Given the description of an element on the screen output the (x, y) to click on. 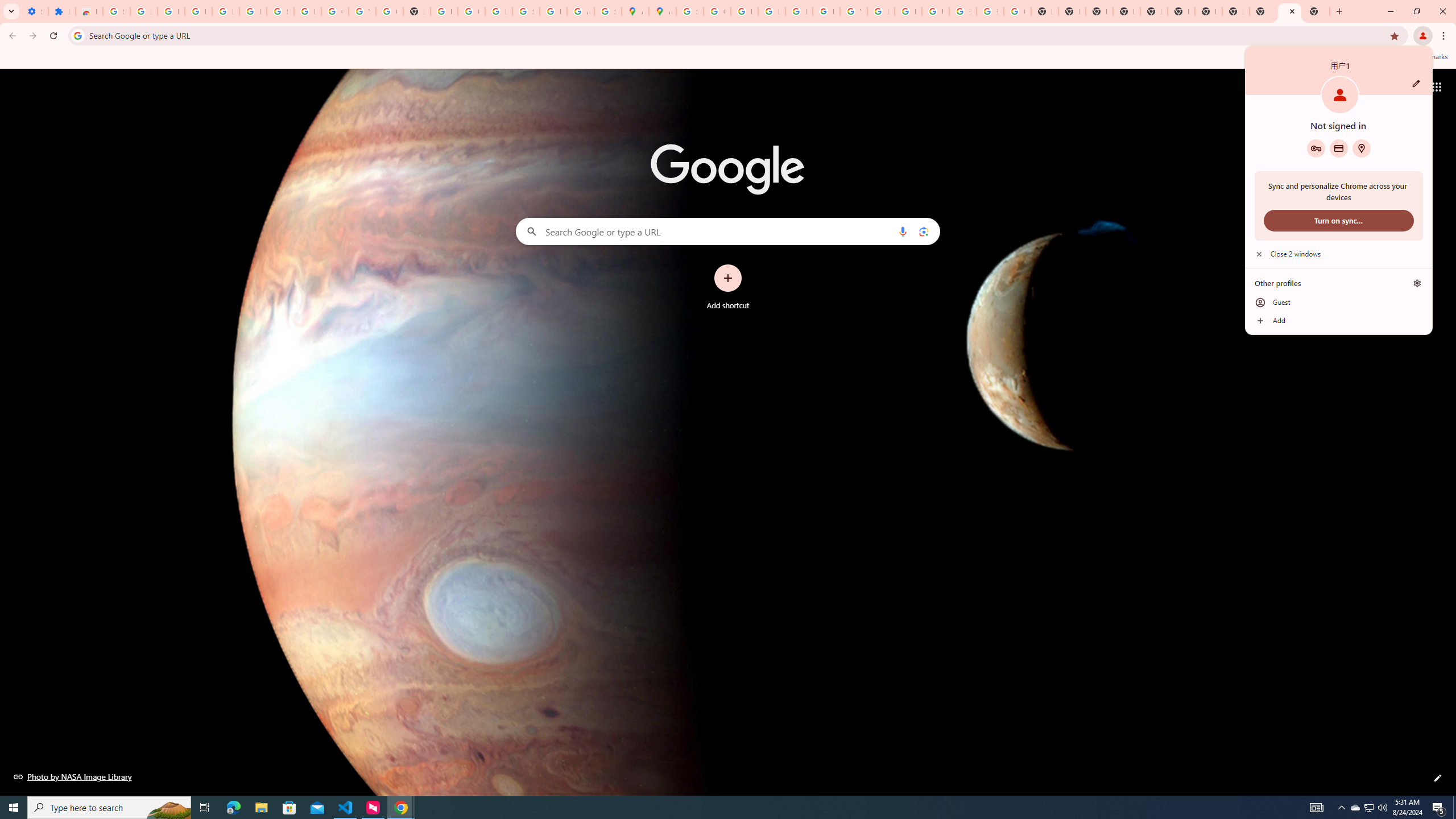
Running applications (717, 807)
Google Images (1017, 11)
Safety in Our Products - Google Safety Center (607, 11)
Manage profiles (1417, 283)
Close 2 windows (1338, 253)
User Promoted Notification Area (1368, 807)
New Tab (1316, 11)
File Explorer (1355, 807)
Show desktop (261, 807)
